Given the description of an element on the screen output the (x, y) to click on. 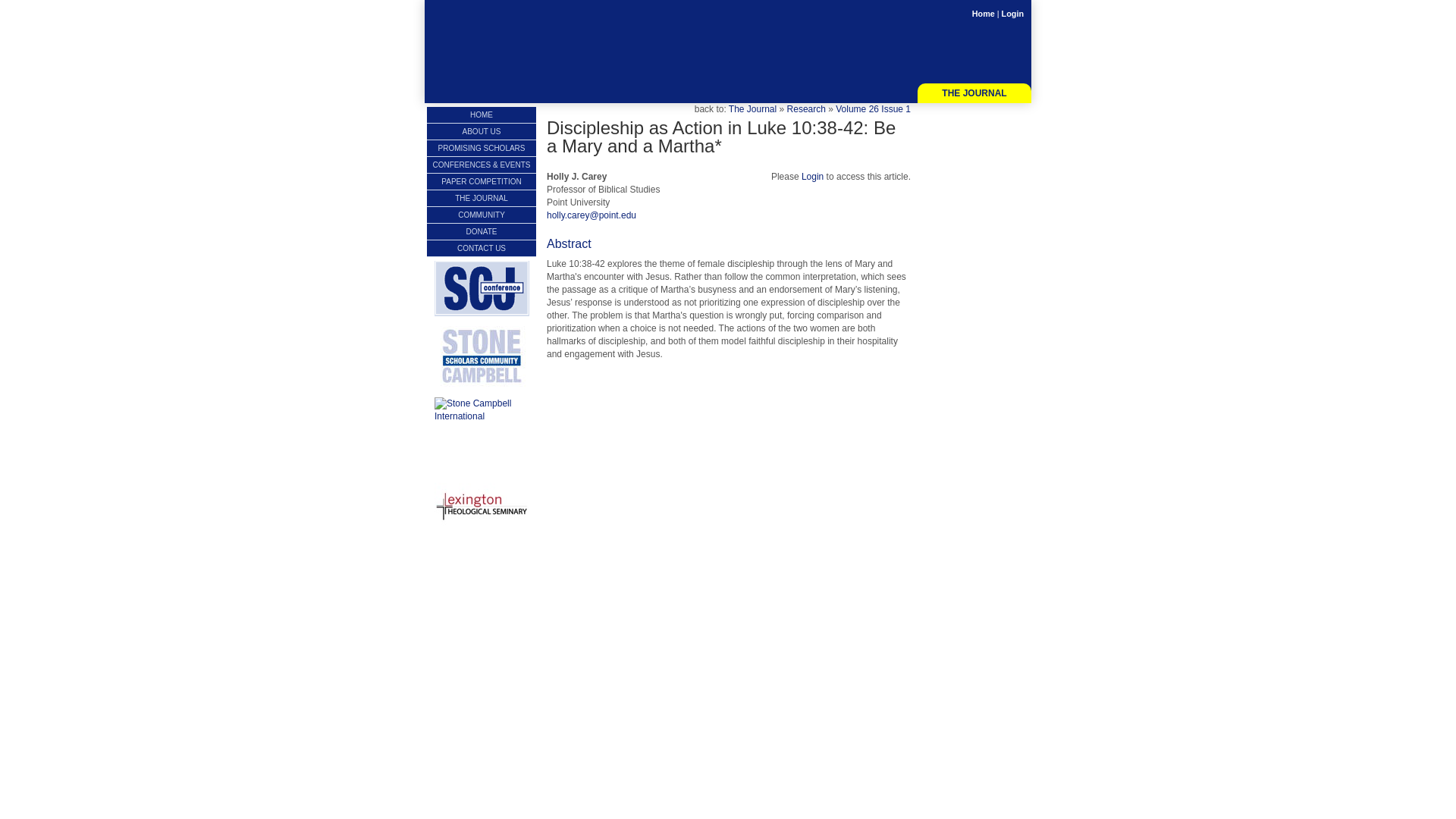
Volume 26 Issue 1 (873, 109)
PAPER COMPETITION (480, 181)
HOME (480, 114)
PROMISING SCHOLARS (480, 148)
THE JOURNAL (480, 198)
ABOUT US (480, 131)
Home (983, 13)
Research (806, 109)
The Journal (752, 109)
THE JOURNAL (973, 93)
